Given the description of an element on the screen output the (x, y) to click on. 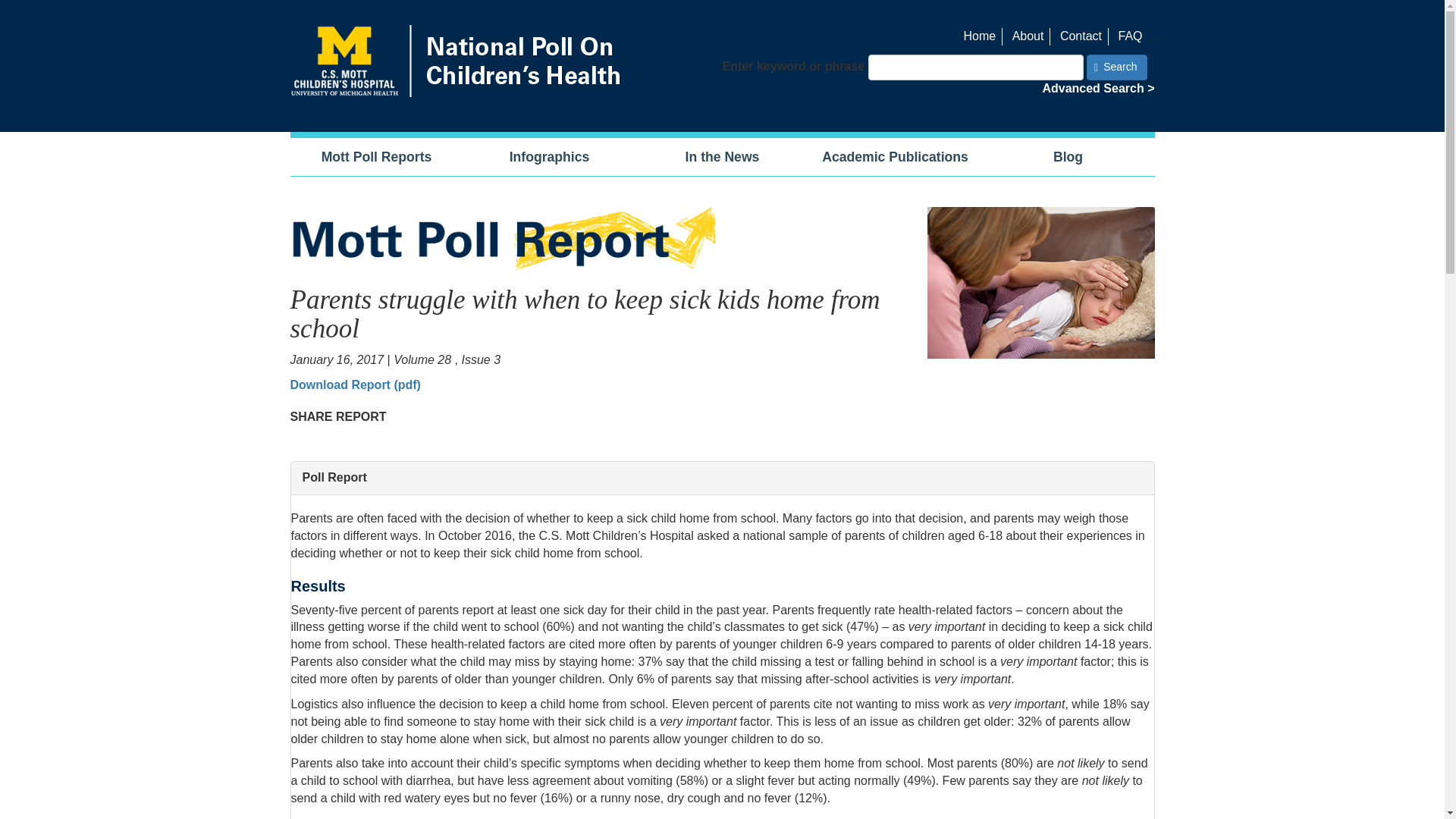
FAQ (1133, 36)
Academic Publications (894, 157)
Infographics (548, 157)
Home (457, 61)
Contact (1083, 36)
Home (982, 36)
Blog (1067, 157)
Mott Poll Reports (376, 157)
Search (1116, 67)
In the News (721, 157)
Poll Report (722, 477)
About (1031, 36)
